Given the description of an element on the screen output the (x, y) to click on. 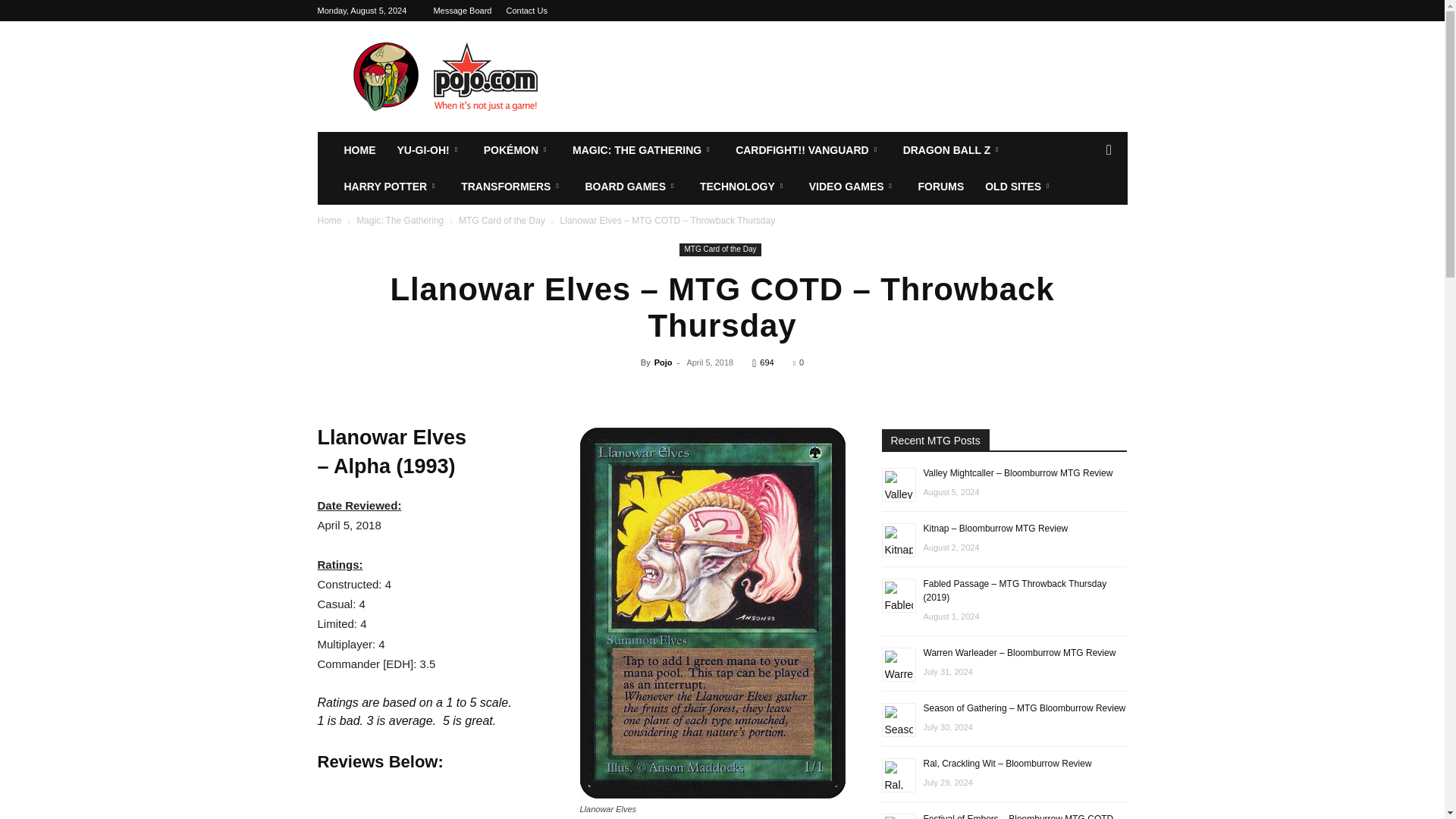
View all posts in MTG Card of the Day (501, 220)
Pojo.com (445, 76)
View all posts in Magic: The Gathering (400, 220)
